Given the description of an element on the screen output the (x, y) to click on. 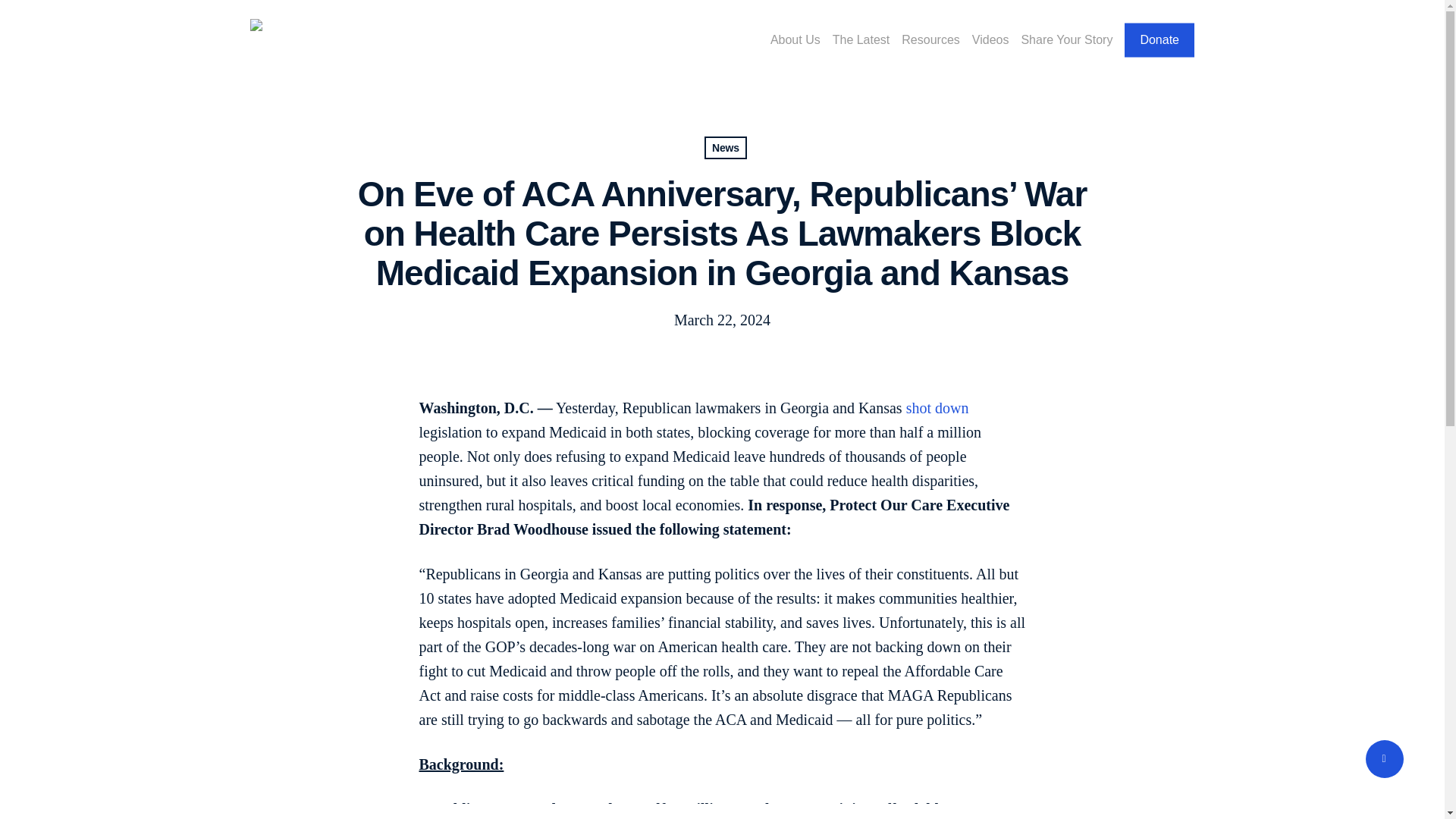
About Us (795, 39)
shot down (937, 407)
Donate (1158, 39)
Videos (990, 39)
Share Your Story (1066, 39)
News (725, 147)
The Latest (860, 39)
Resources (930, 39)
